Given the description of an element on the screen output the (x, y) to click on. 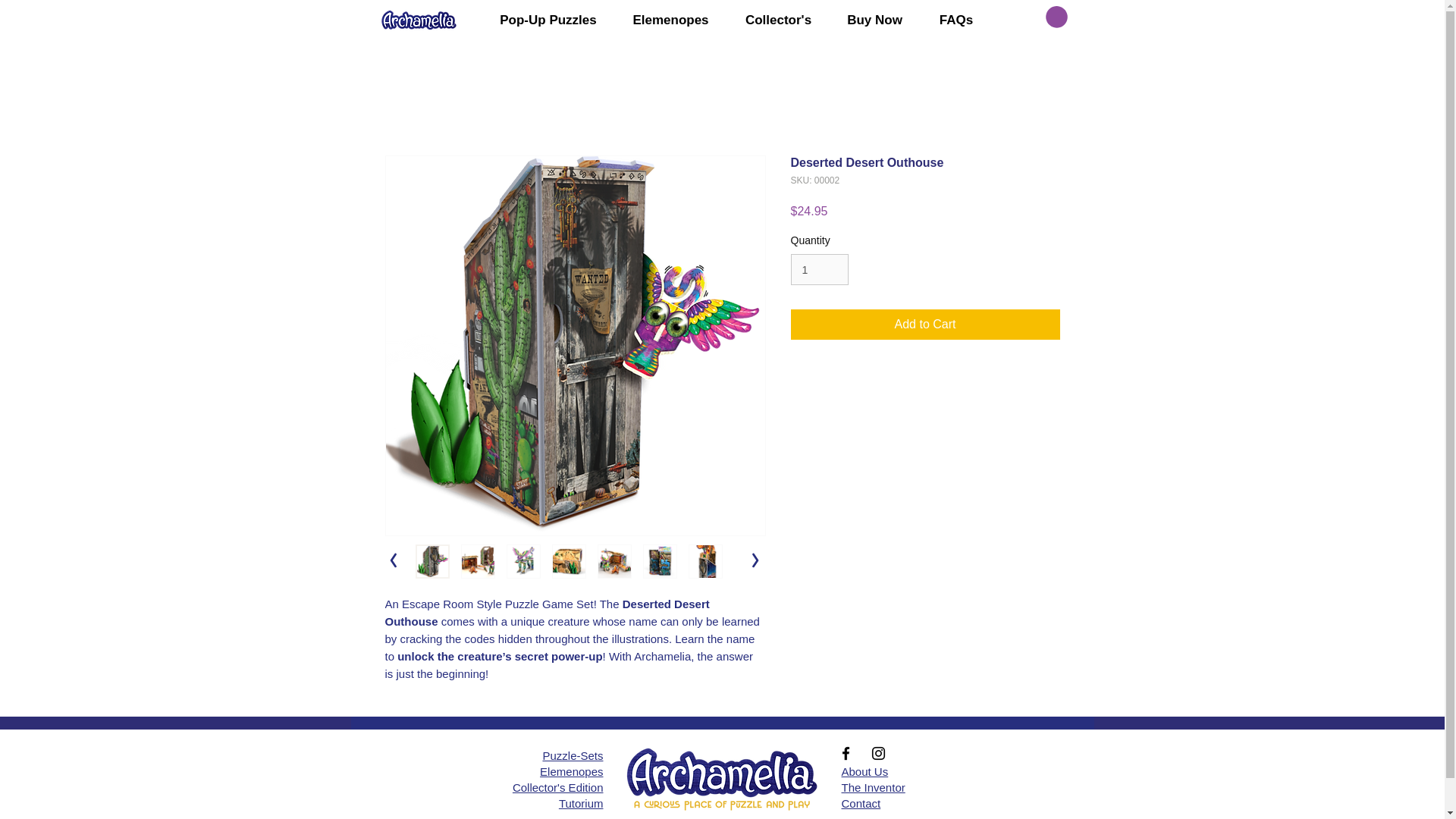
Pop-Up Puzzles (546, 20)
Puzzle-Sets (571, 755)
Elemenopes (571, 771)
Elemenopes (671, 20)
Add to Cart (924, 324)
Tutorium (581, 802)
Collector's Edition (558, 787)
The Inventor (873, 787)
Collector's (778, 20)
Buy Now (874, 20)
